Given the description of an element on the screen output the (x, y) to click on. 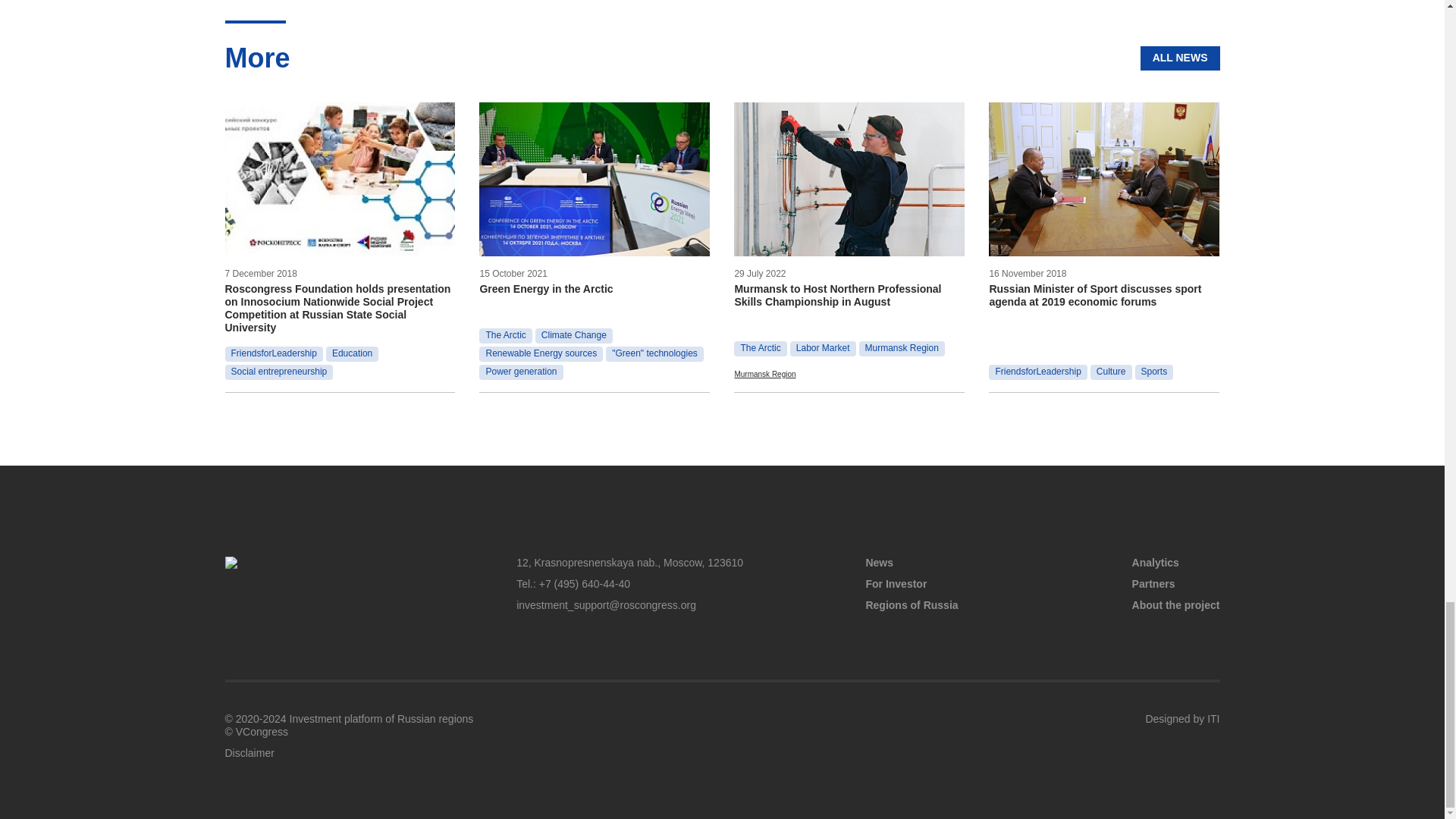
The Arctic (505, 335)
Power generation (520, 372)
Climate Change (573, 335)
Education (352, 353)
ALL NEWS (1180, 57)
Green Energy in the Arctic (594, 288)
FriendsforLeadership (272, 353)
Social entrepreneurship (278, 372)
Renewable Energy sources (540, 353)
